Given the description of an element on the screen output the (x, y) to click on. 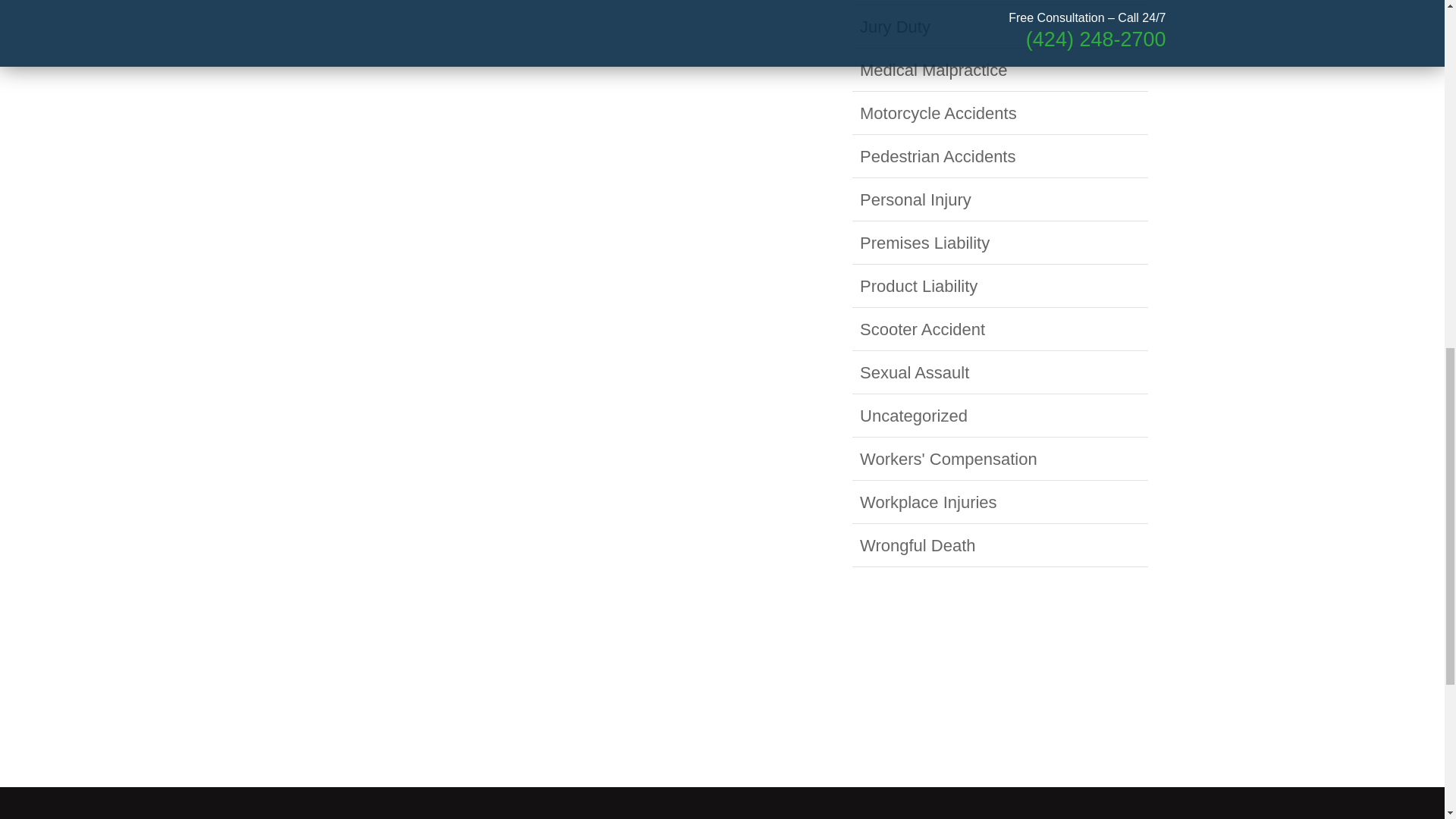
Premises Liability (925, 242)
Pedestrian Accidents (937, 156)
Motorcycle Accidents (938, 113)
Product Liability (918, 285)
Wrongful Death (917, 545)
Workplace Injuries (928, 502)
Sexual Assault (914, 372)
Workers' Compensation (948, 458)
Uncategorized (914, 415)
Personal Injury (915, 199)
